Given the description of an element on the screen output the (x, y) to click on. 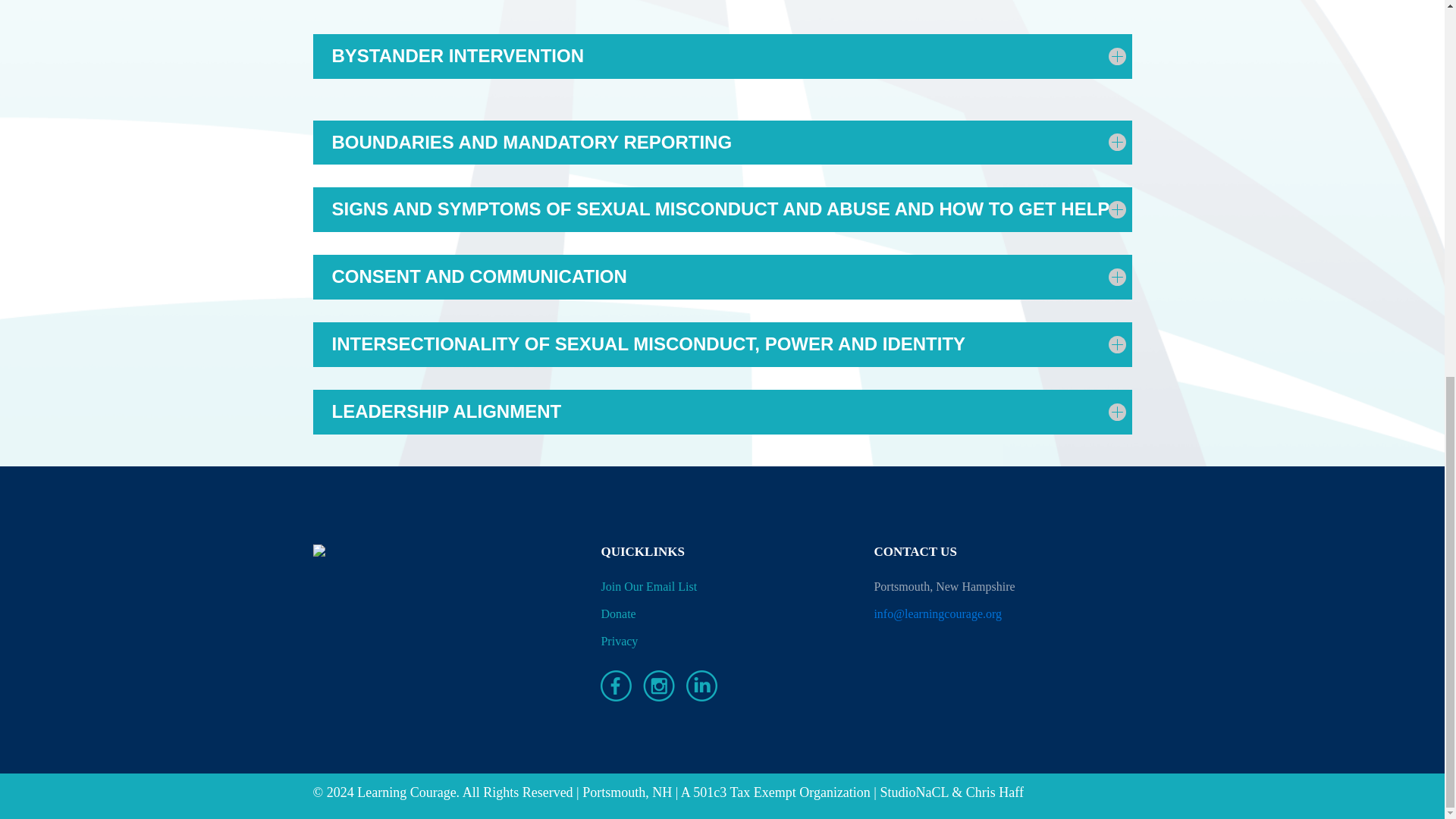
Join Our Email List (648, 586)
Donate (616, 614)
Privacy (618, 641)
